Given the description of an element on the screen output the (x, y) to click on. 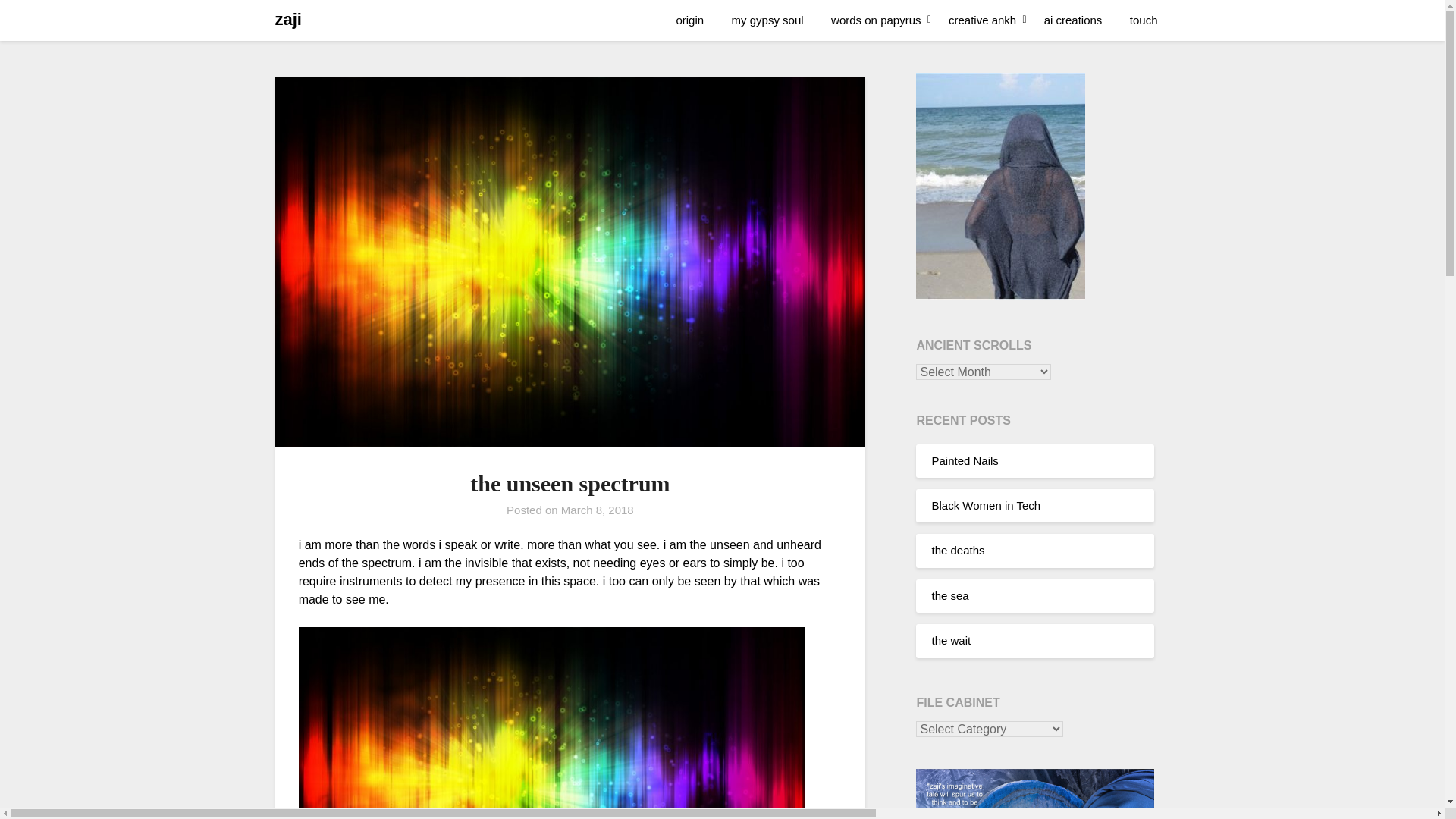
Black Women in Tech (986, 504)
words on papyrus (875, 20)
ai creations (1073, 20)
origin (689, 20)
Painted Nails (964, 460)
the sea (949, 594)
touch (1144, 20)
creative ankh (981, 20)
the wait (951, 640)
Search (38, 22)
my gypsy soul (767, 20)
zaji (288, 19)
March 8, 2018 (596, 509)
the deaths (957, 549)
